Given the description of an element on the screen output the (x, y) to click on. 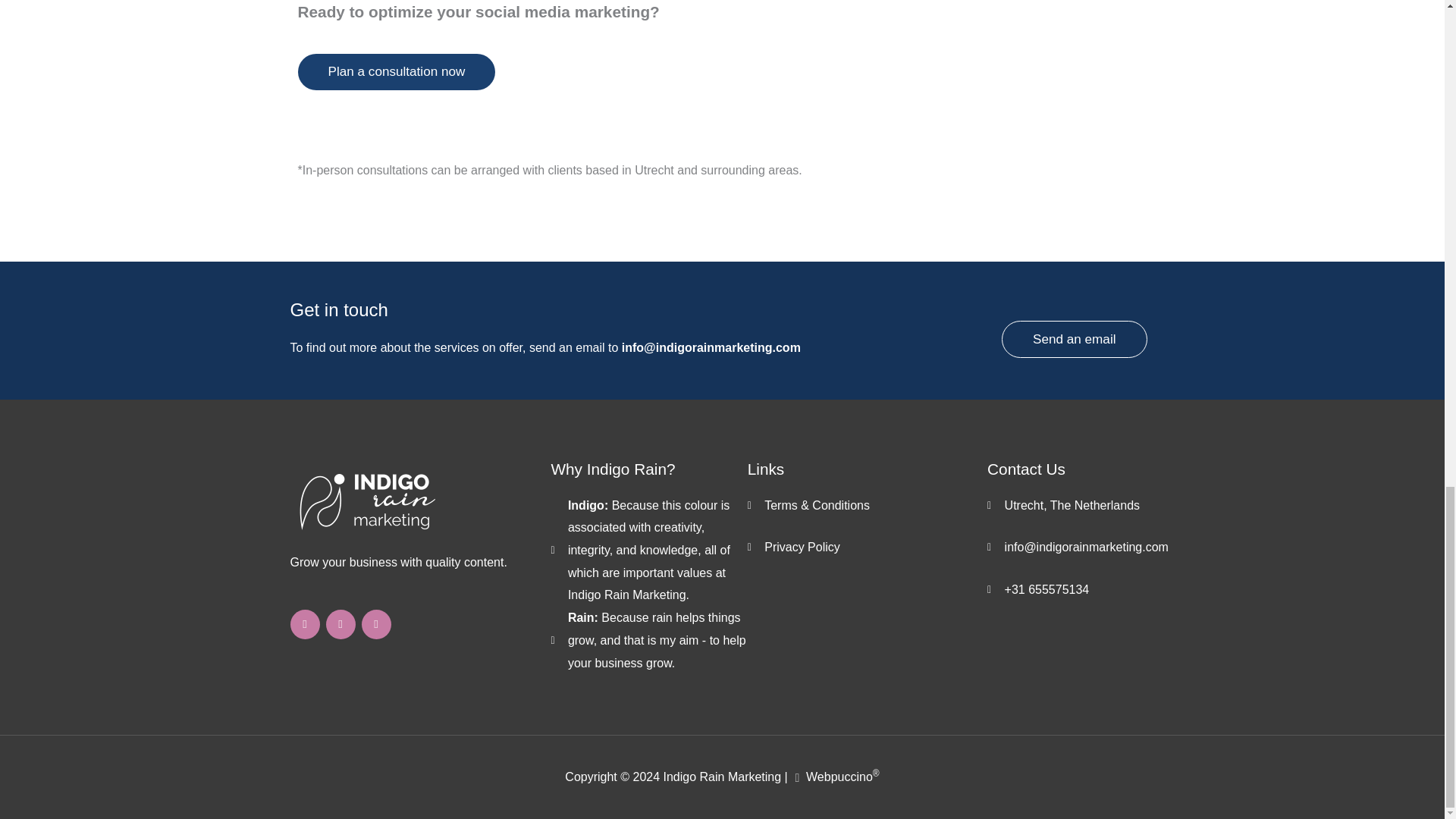
Instagram (340, 624)
Privacy Policy (867, 547)
indigo-rain-logo-white (365, 498)
Plan a consultation now (396, 71)
Send an email (1074, 339)
Linkedin-in (375, 624)
Facebook-f (303, 624)
